Given the description of an element on the screen output the (x, y) to click on. 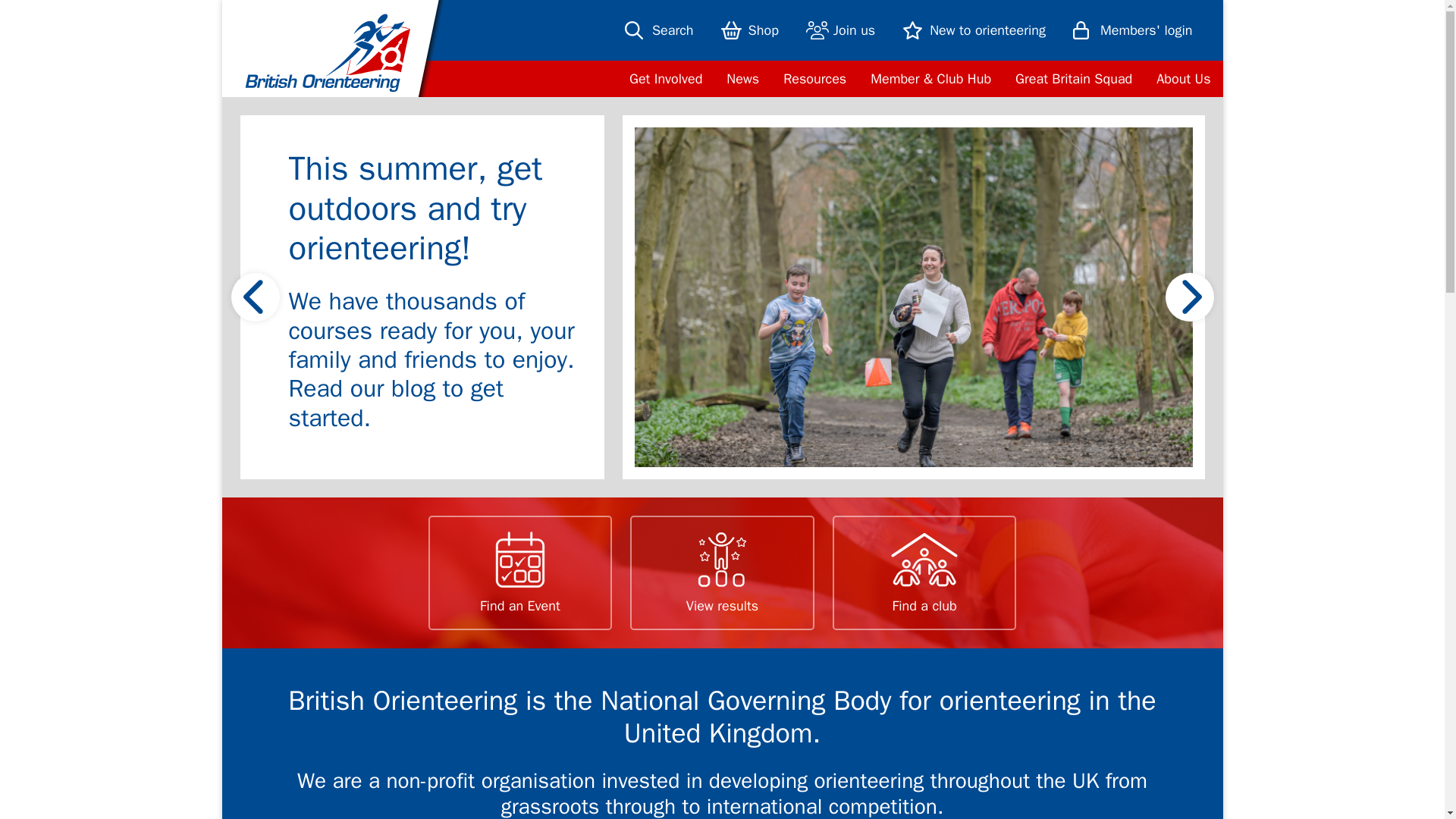
Shop (753, 29)
New to orienteering (978, 29)
Search (663, 29)
Join us (844, 29)
Members' login (1137, 29)
